Given the description of an element on the screen output the (x, y) to click on. 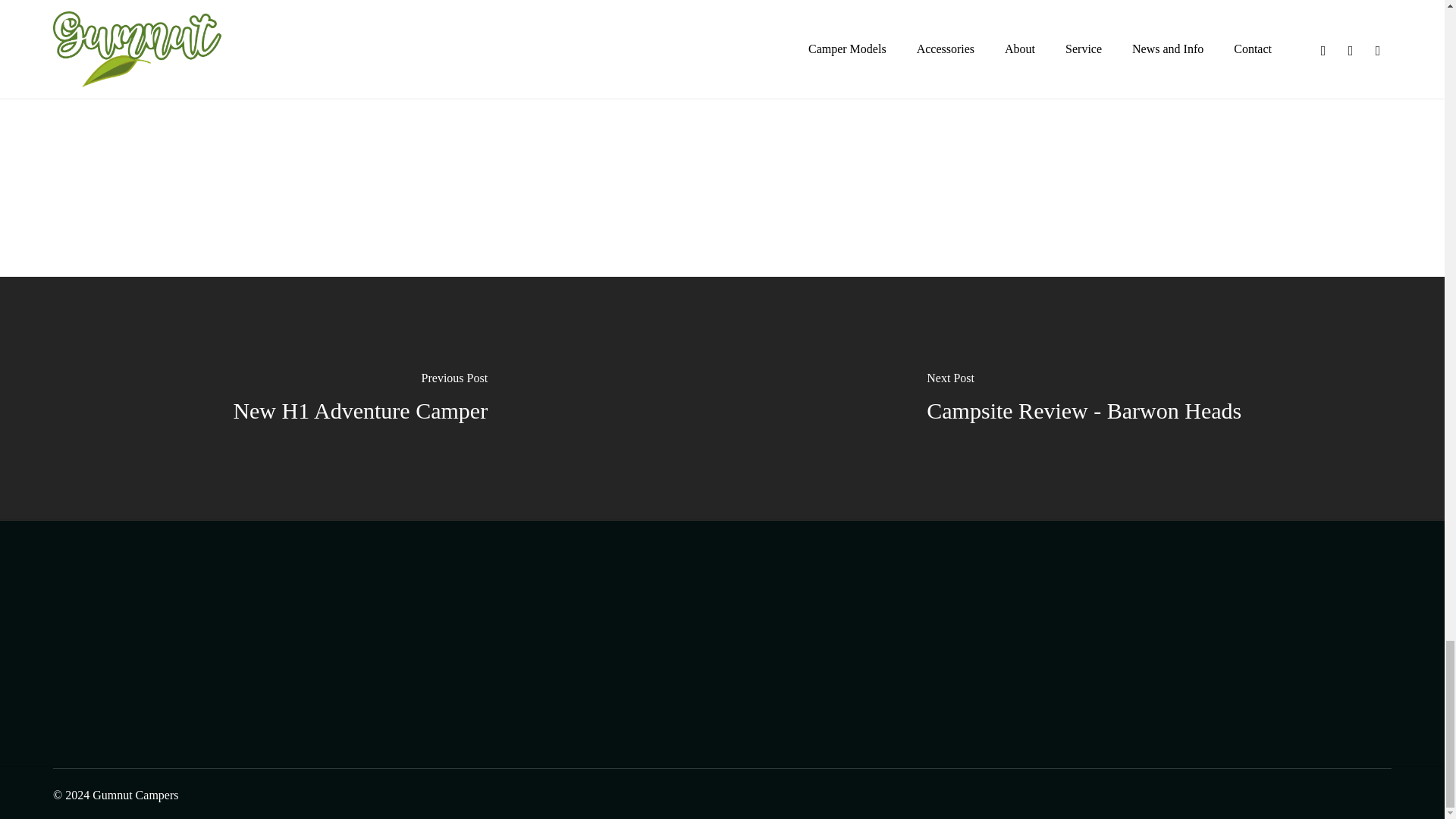
Shop Campers (400, 72)
